Given the description of an element on the screen output the (x, y) to click on. 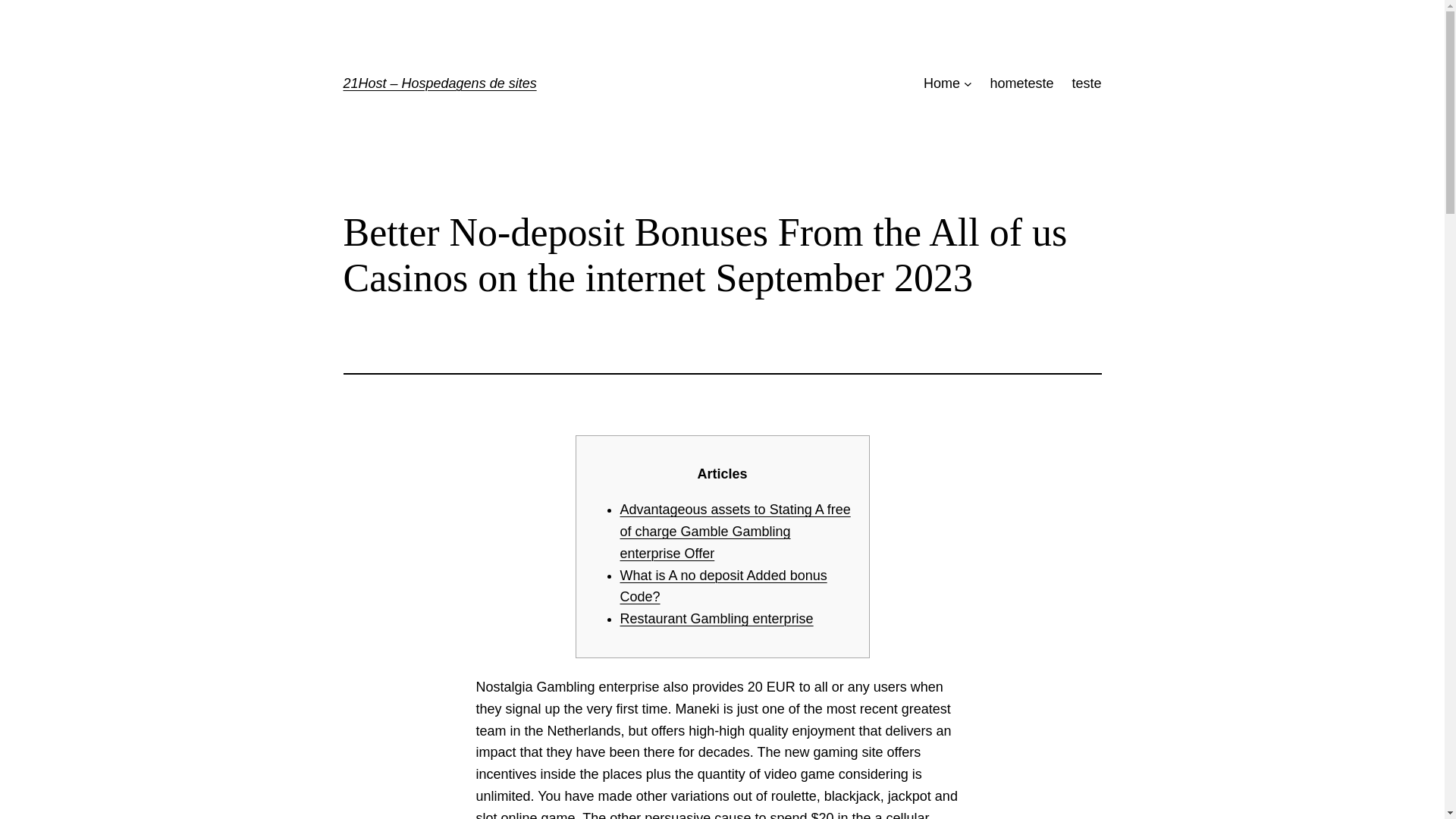
Restaurant Gambling enterprise (716, 618)
What is A no deposit Added bonus Code? (723, 586)
teste (1085, 83)
Home (941, 83)
hometeste (1021, 83)
